Given the description of an element on the screen output the (x, y) to click on. 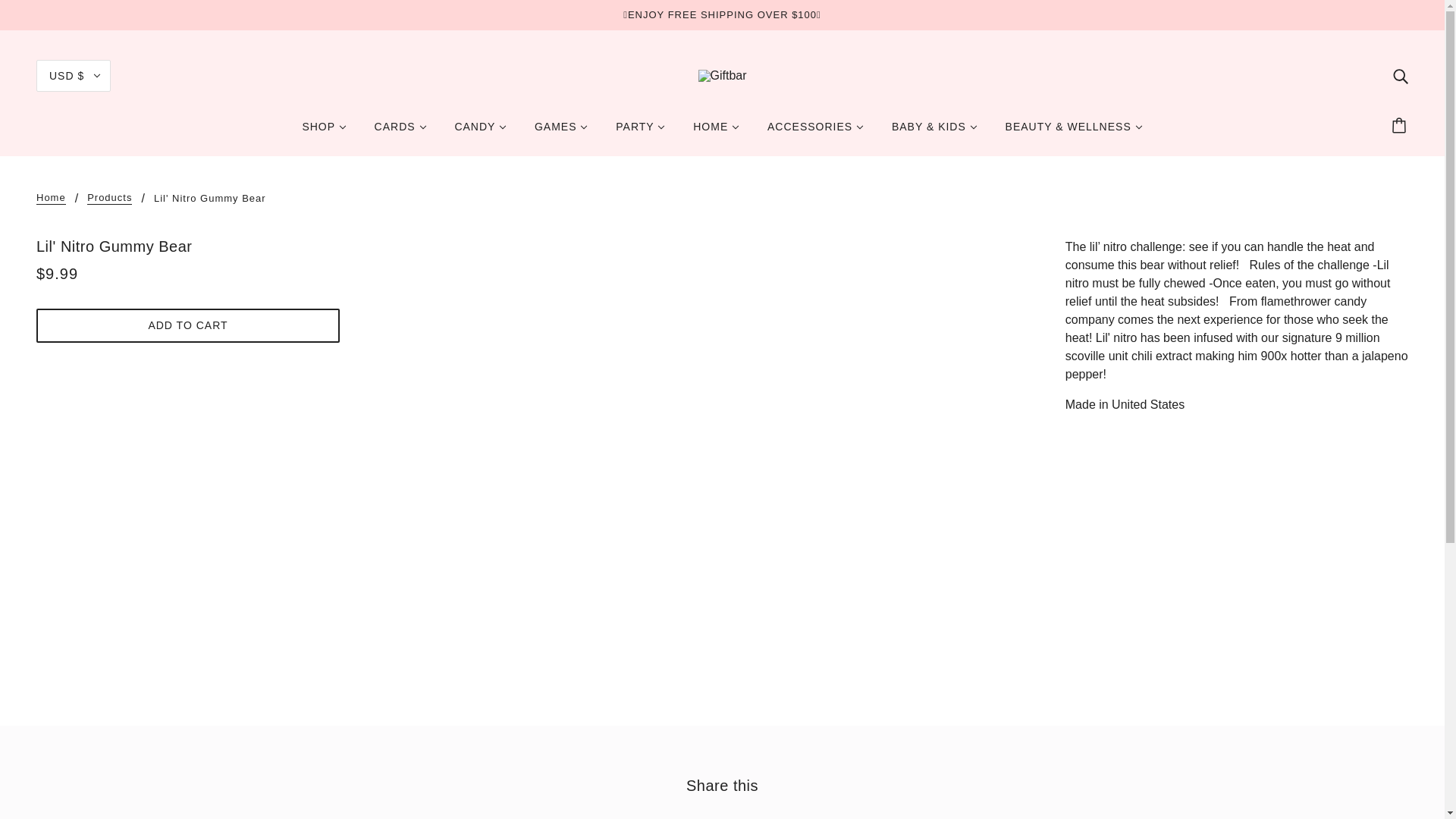
Giftbar (721, 74)
